Given the description of an element on the screen output the (x, y) to click on. 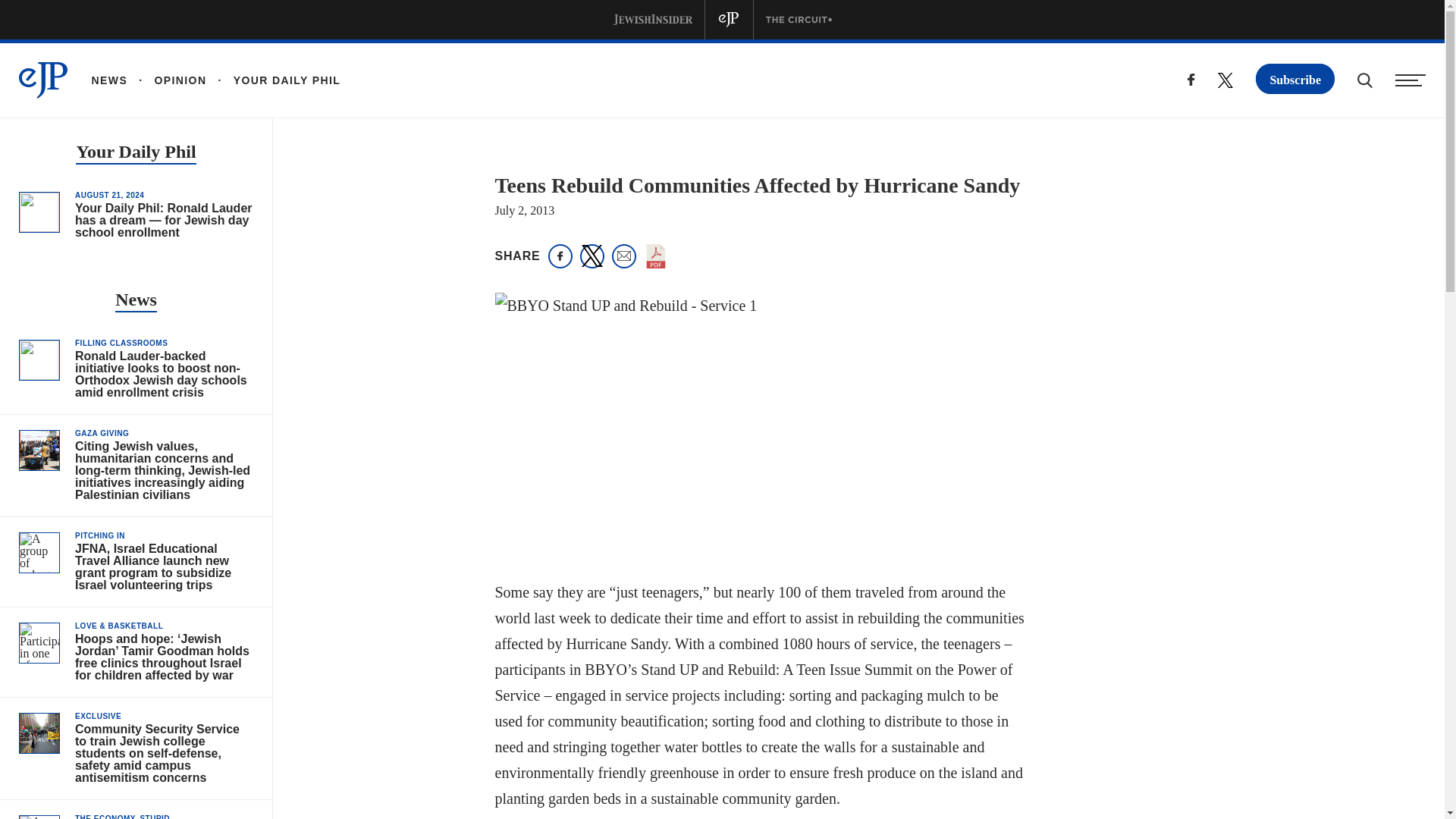
OPINION (167, 80)
NEWS (109, 80)
News (136, 301)
Your Daily Phil (135, 153)
Subscribe (1295, 78)
YOUR DAILY PHIL (273, 80)
